Given the description of an element on the screen output the (x, y) to click on. 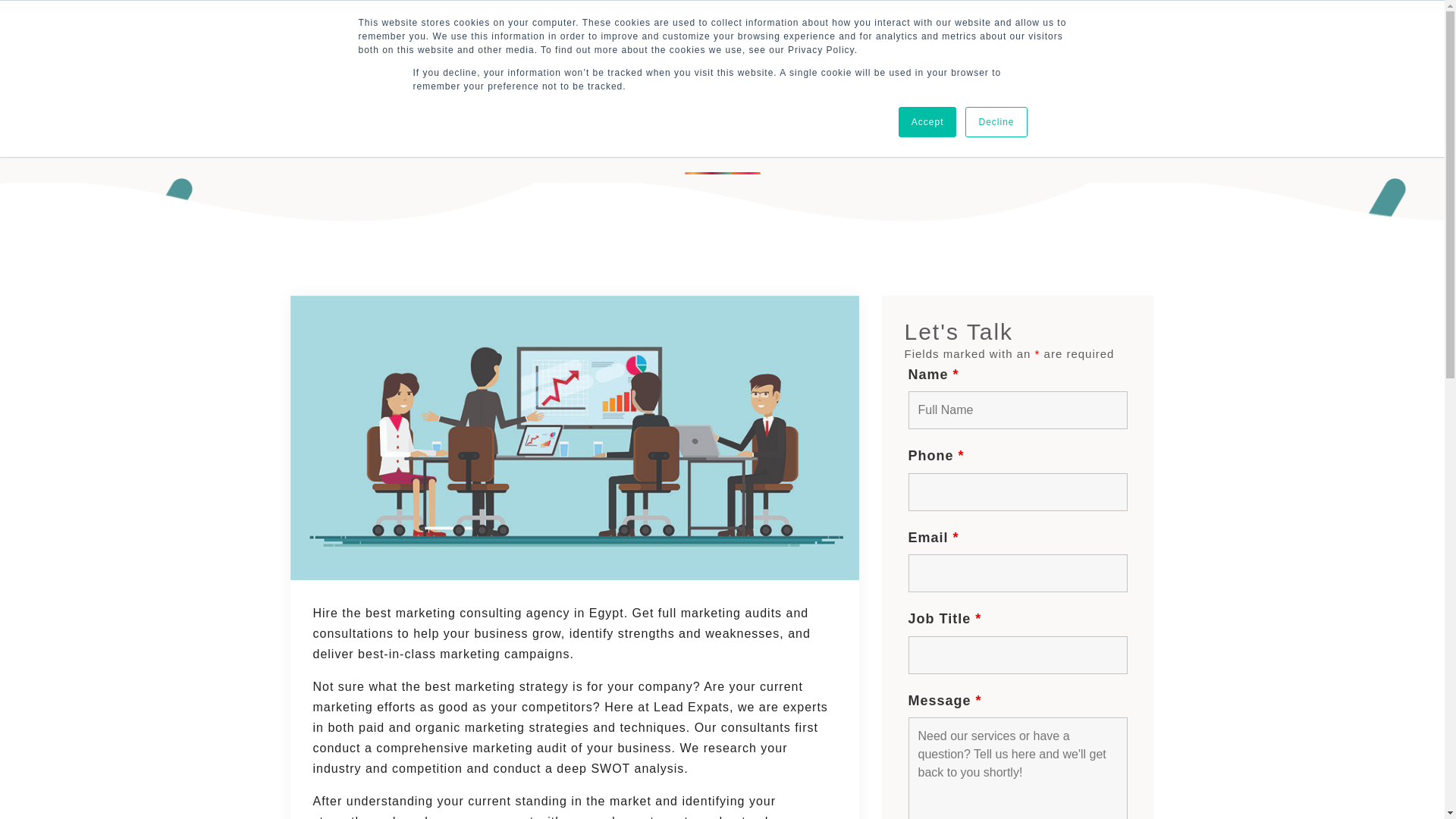
CONTACT US (766, 42)
ABOUT US (628, 42)
SERVICES (542, 42)
BLOG (693, 42)
ABOUT US (628, 42)
BLOG (693, 42)
GET A FREE QUOTE (1007, 41)
Accept (927, 122)
Decline (995, 122)
CONTACT US (766, 42)
SERVICES (542, 42)
